Given the description of an element on the screen output the (x, y) to click on. 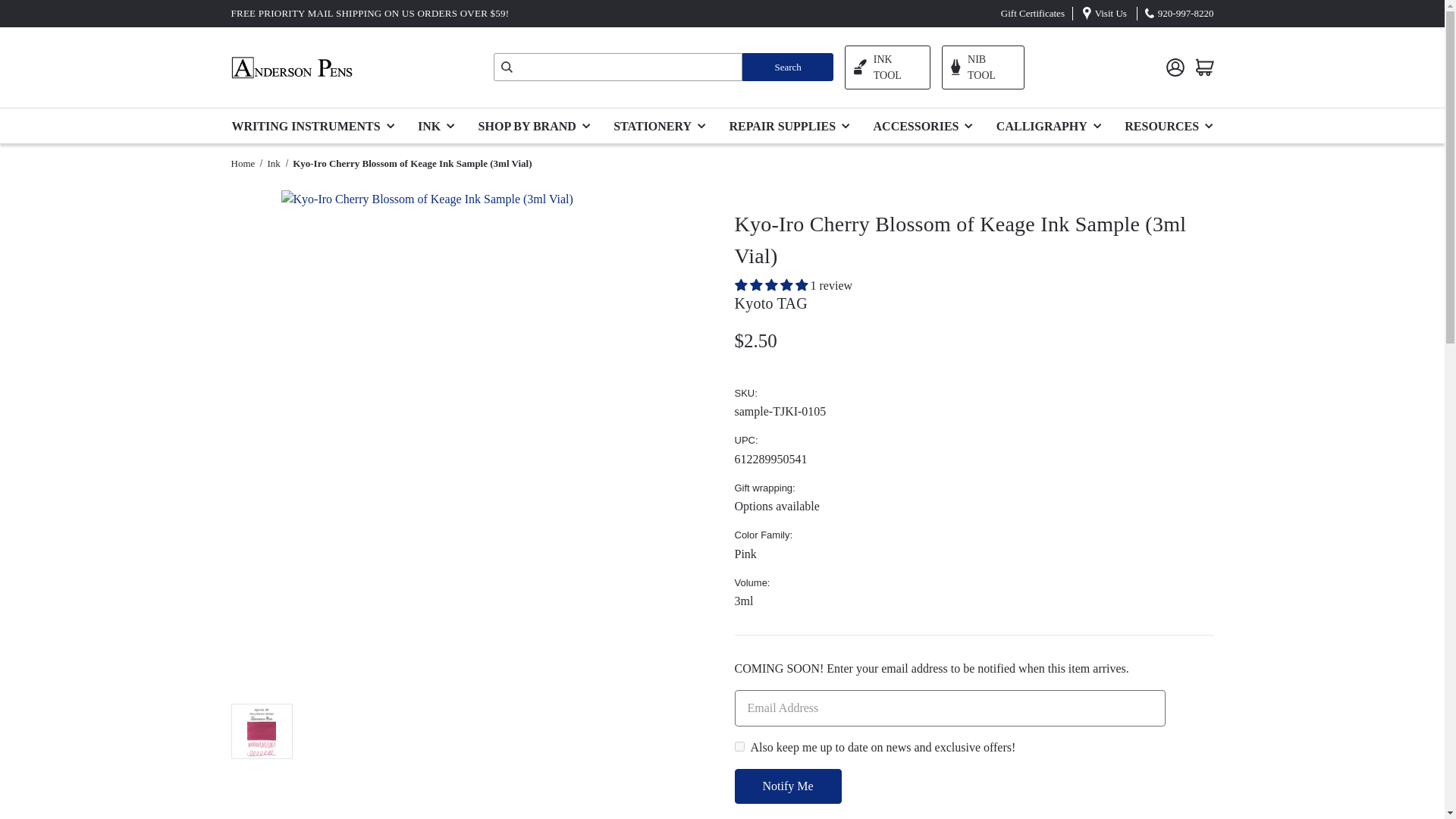
on (738, 746)
Gift Certificates (1032, 13)
INK TOOL (887, 67)
Visit Us (1110, 13)
WRITING INSTRUMENTS (318, 124)
920-997-8220 (1185, 13)
INK (439, 124)
SHOP BY BRAND (537, 124)
Notify Me (787, 786)
NIB TOOL (983, 67)
